Given the description of an element on the screen output the (x, y) to click on. 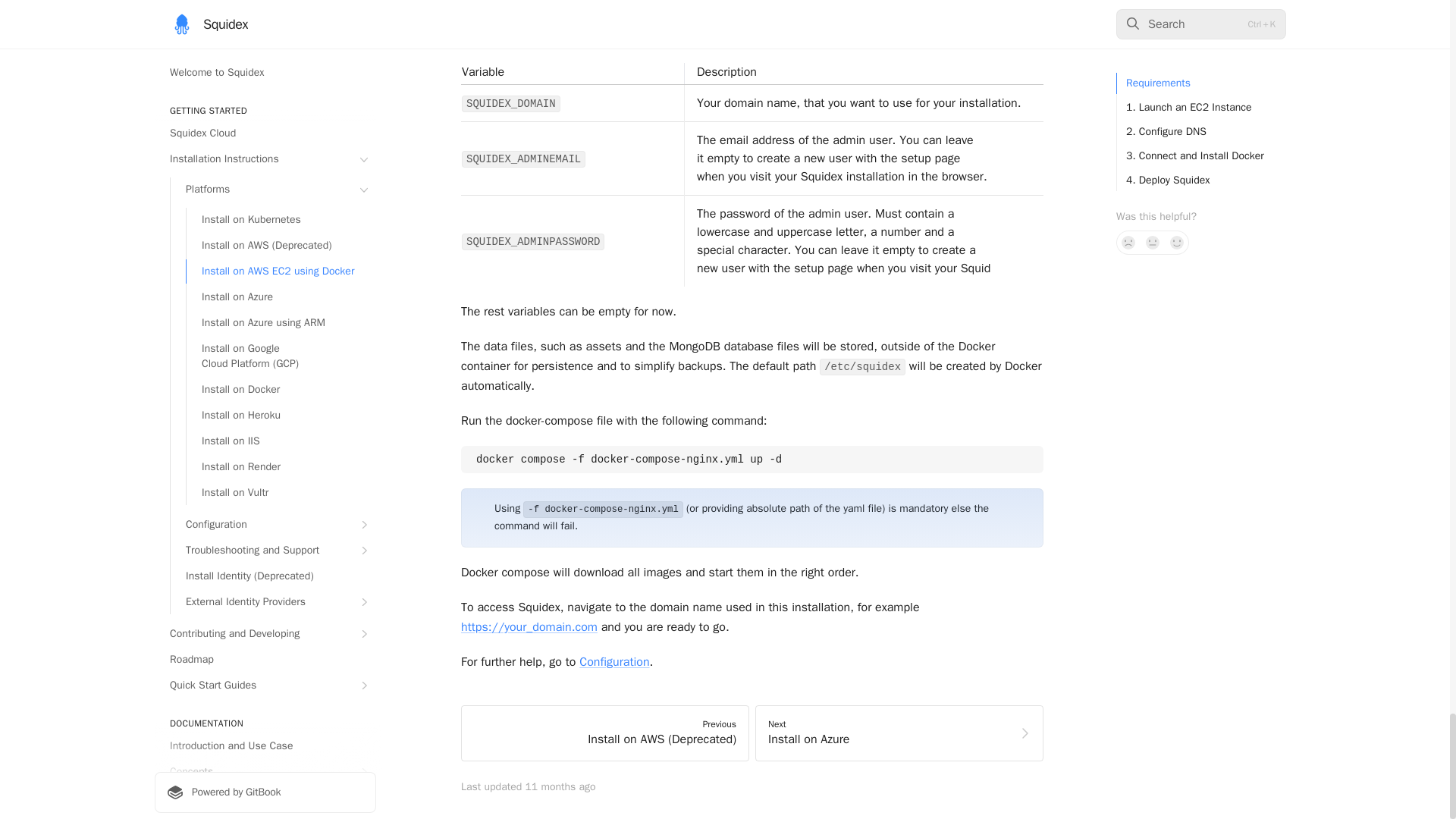
docker compose -f docker-compose-nginx.yml up -d (752, 459)
